Given the description of an element on the screen output the (x, y) to click on. 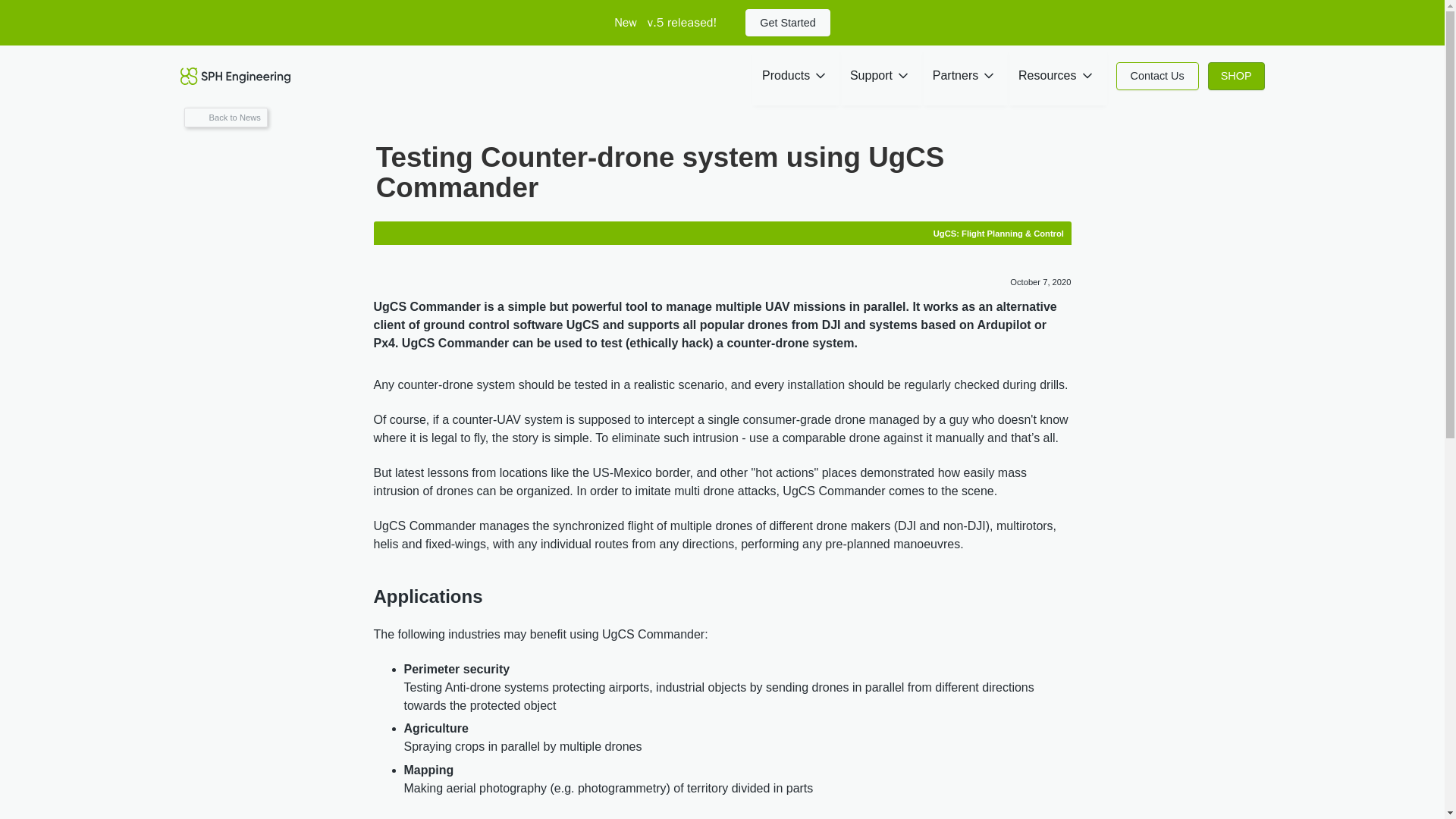
Get Started (787, 22)
